Given the description of an element on the screen output the (x, y) to click on. 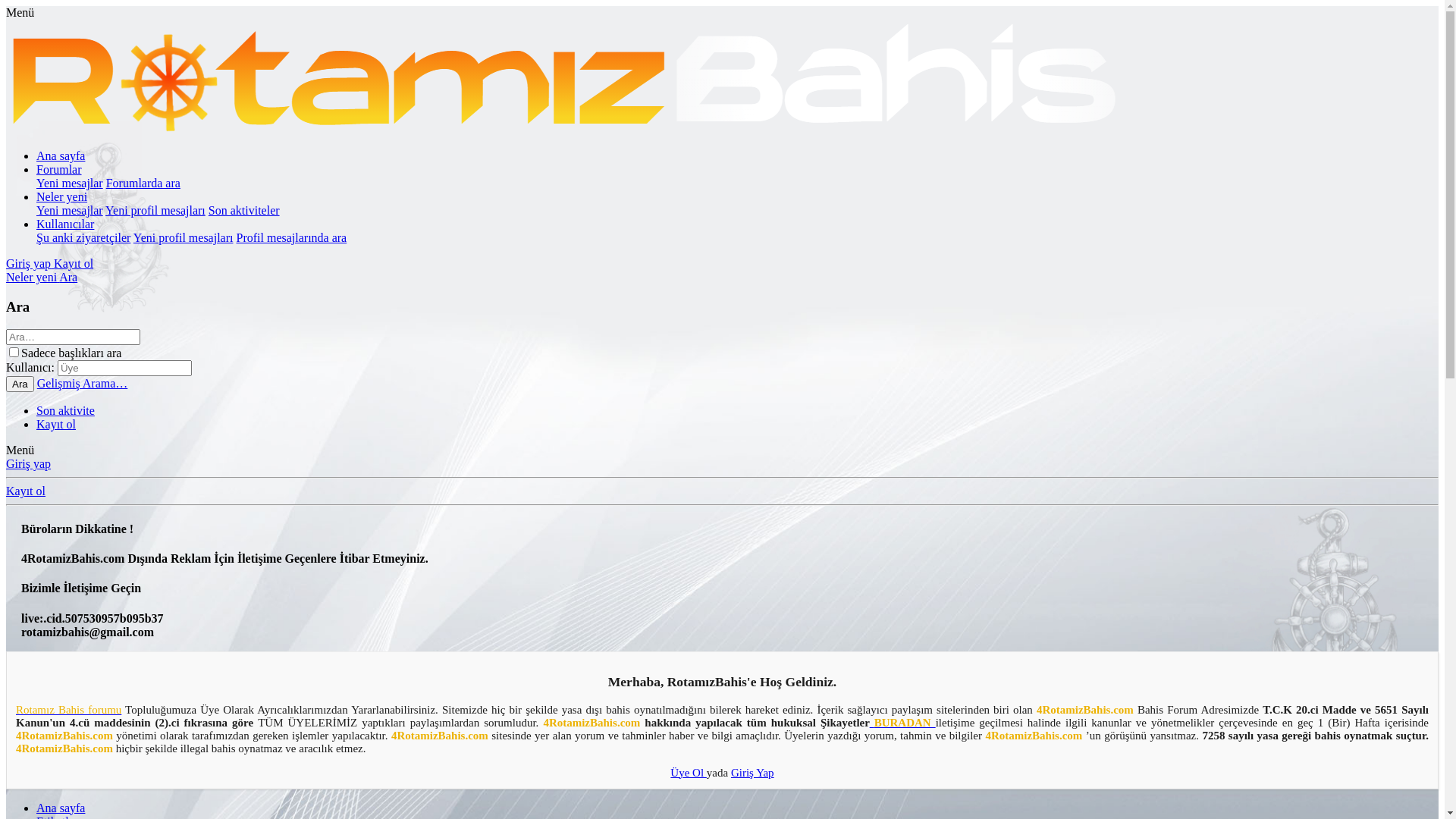
Neler yeni Element type: text (61, 196)
Neler yeni Element type: text (32, 276)
Forumlar Element type: text (58, 169)
Yeni mesajlar Element type: text (69, 209)
Ana sayfa Element type: text (60, 807)
Son aktivite Element type: text (65, 410)
Ana sayfa Element type: text (60, 155)
Ara Element type: text (20, 384)
Ara Element type: text (68, 276)
Son aktiviteler Element type: text (243, 209)
BURADAN Element type: text (902, 722)
Yeni mesajlar Element type: text (69, 182)
Forumlarda ara Element type: text (143, 182)
